Given the description of an element on the screen output the (x, y) to click on. 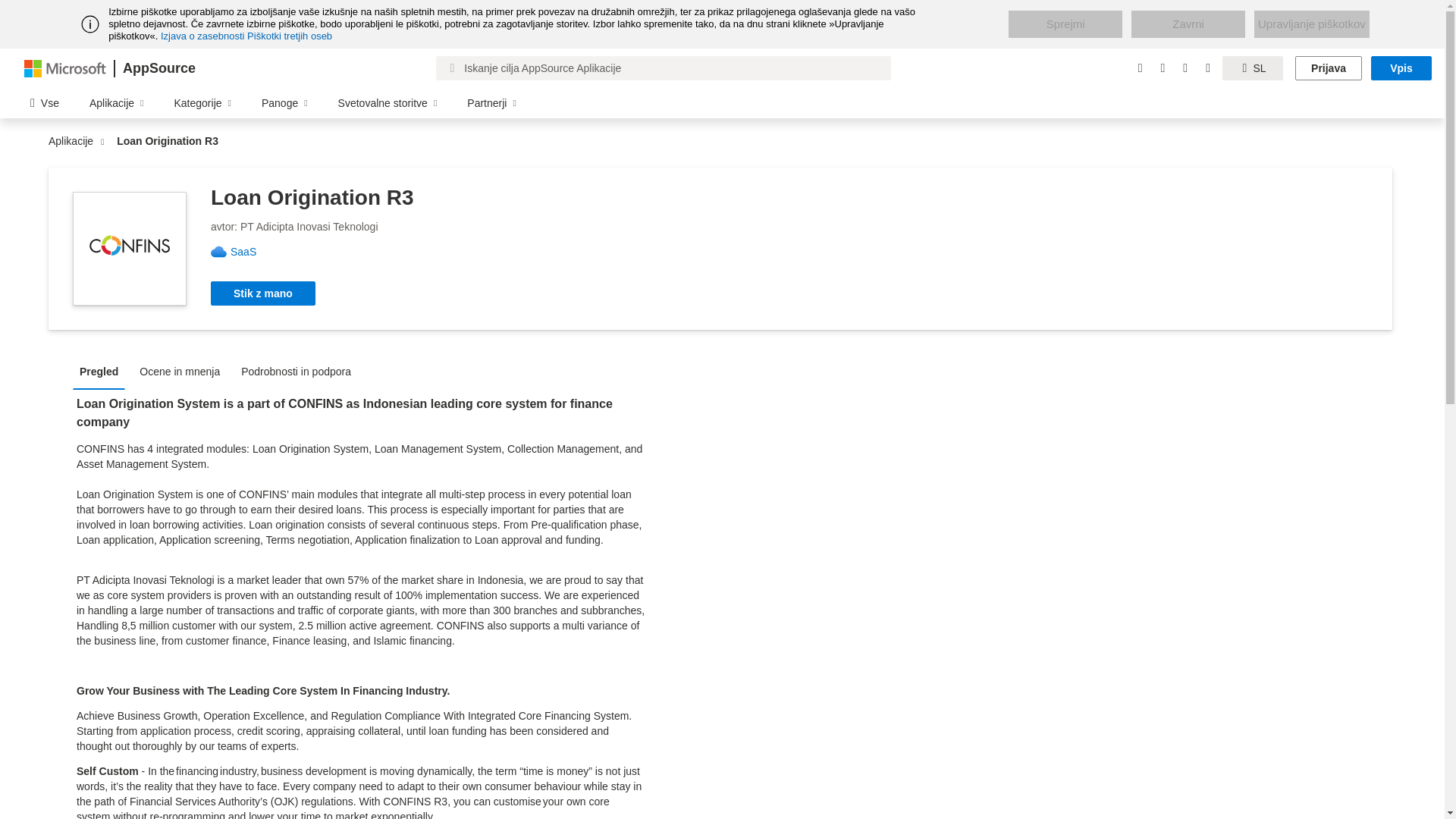
Ocene in mnenja (183, 370)
Aplikacije (74, 141)
Podrobnosti in podpora (299, 370)
SaaS (248, 251)
Vpis (1401, 68)
AppSource (158, 67)
Stik z mano (263, 293)
SaaS (248, 251)
Prijava (1328, 68)
Izjava o zasebnosti (202, 35)
Sprejmi (1065, 23)
Zavrni (1187, 23)
Pregled (102, 370)
Microsoft (65, 67)
